Given the description of an element on the screen output the (x, y) to click on. 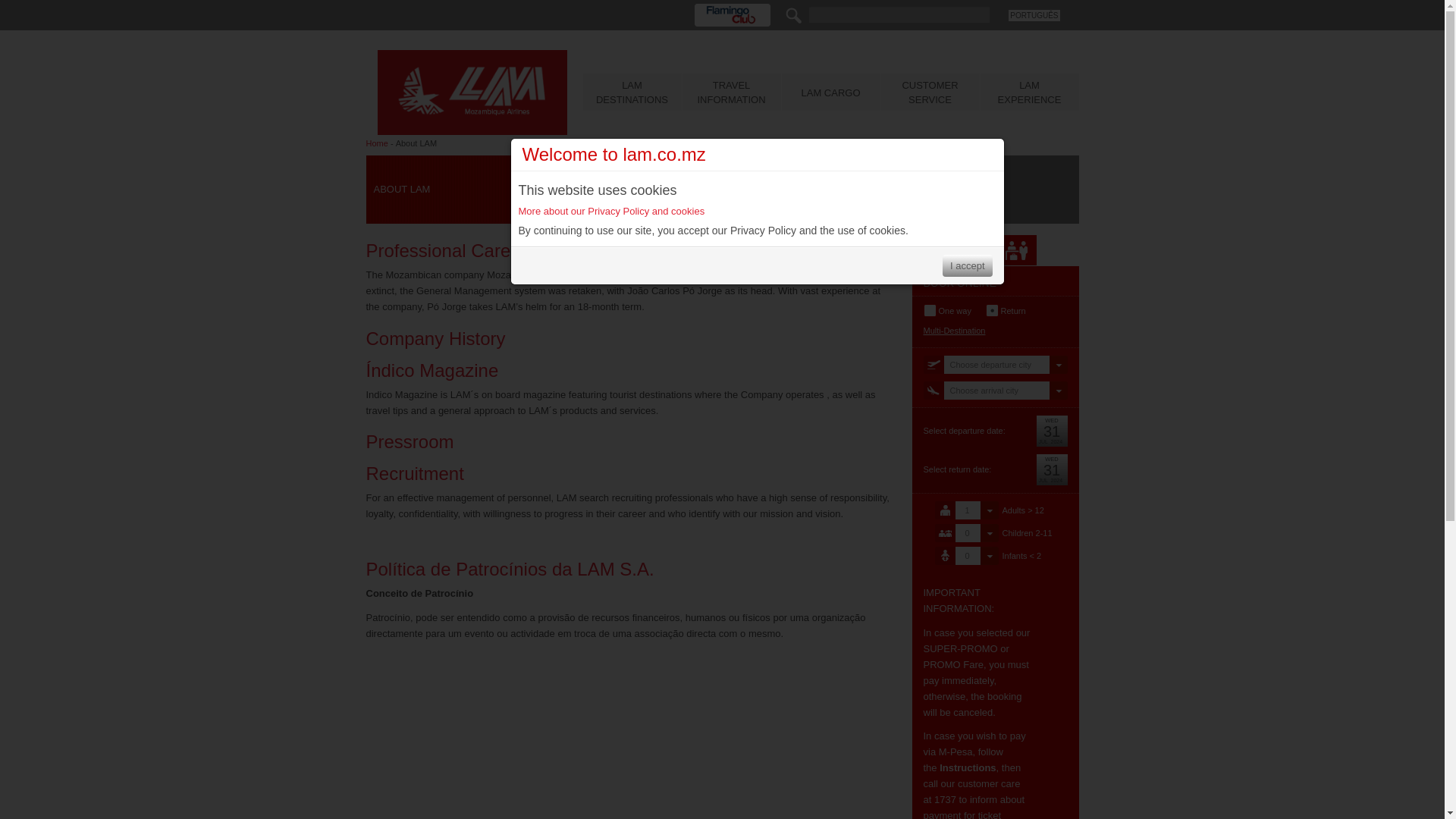
LAM (472, 105)
LAM CARGO (829, 92)
TRAVEL INFORMATION (731, 92)
LAM DESTINATIONS (631, 92)
